Given the description of an element on the screen output the (x, y) to click on. 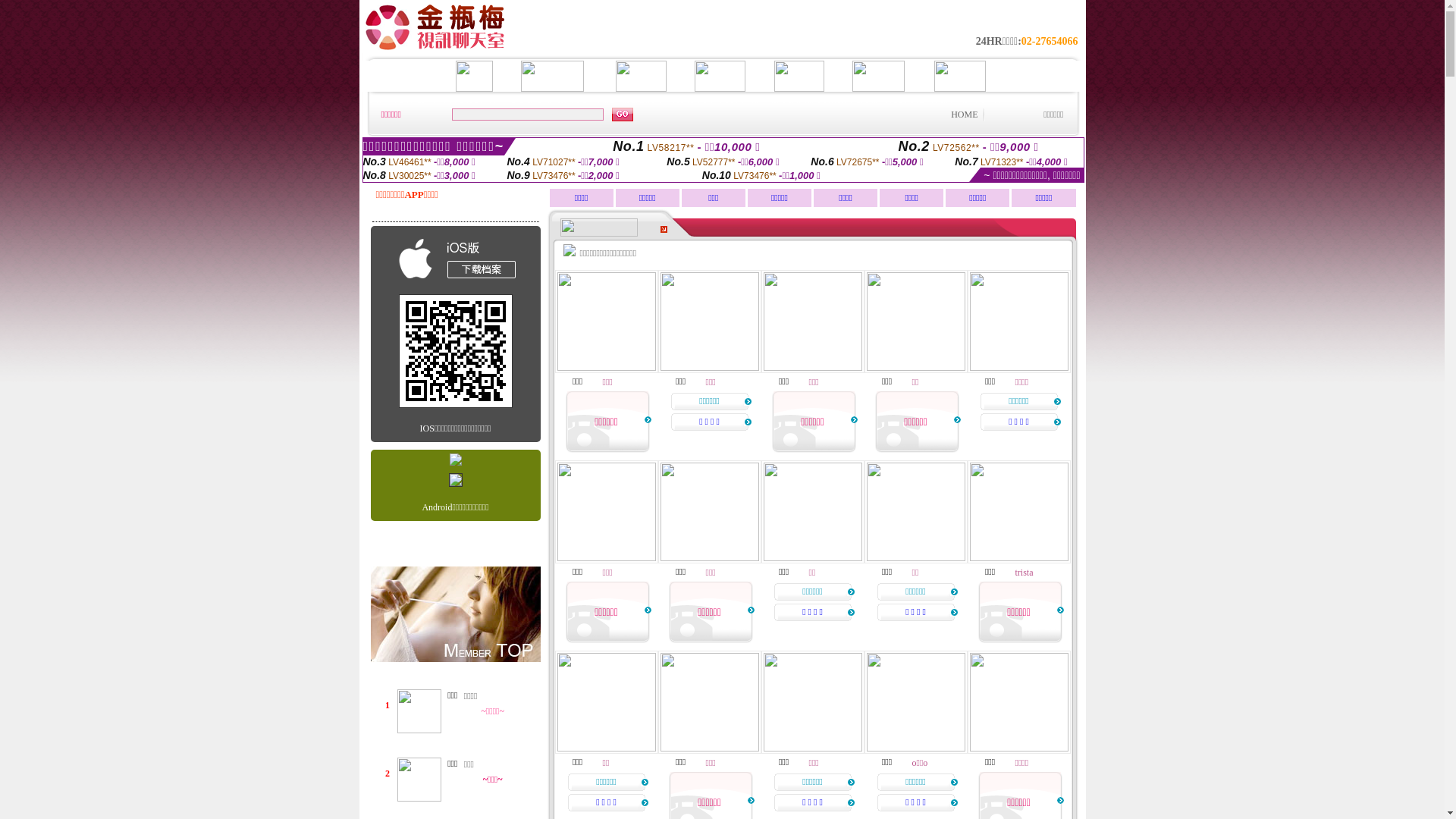
trista Element type: text (1023, 572)
HOME Element type: text (963, 114)
